Given the description of an element on the screen output the (x, y) to click on. 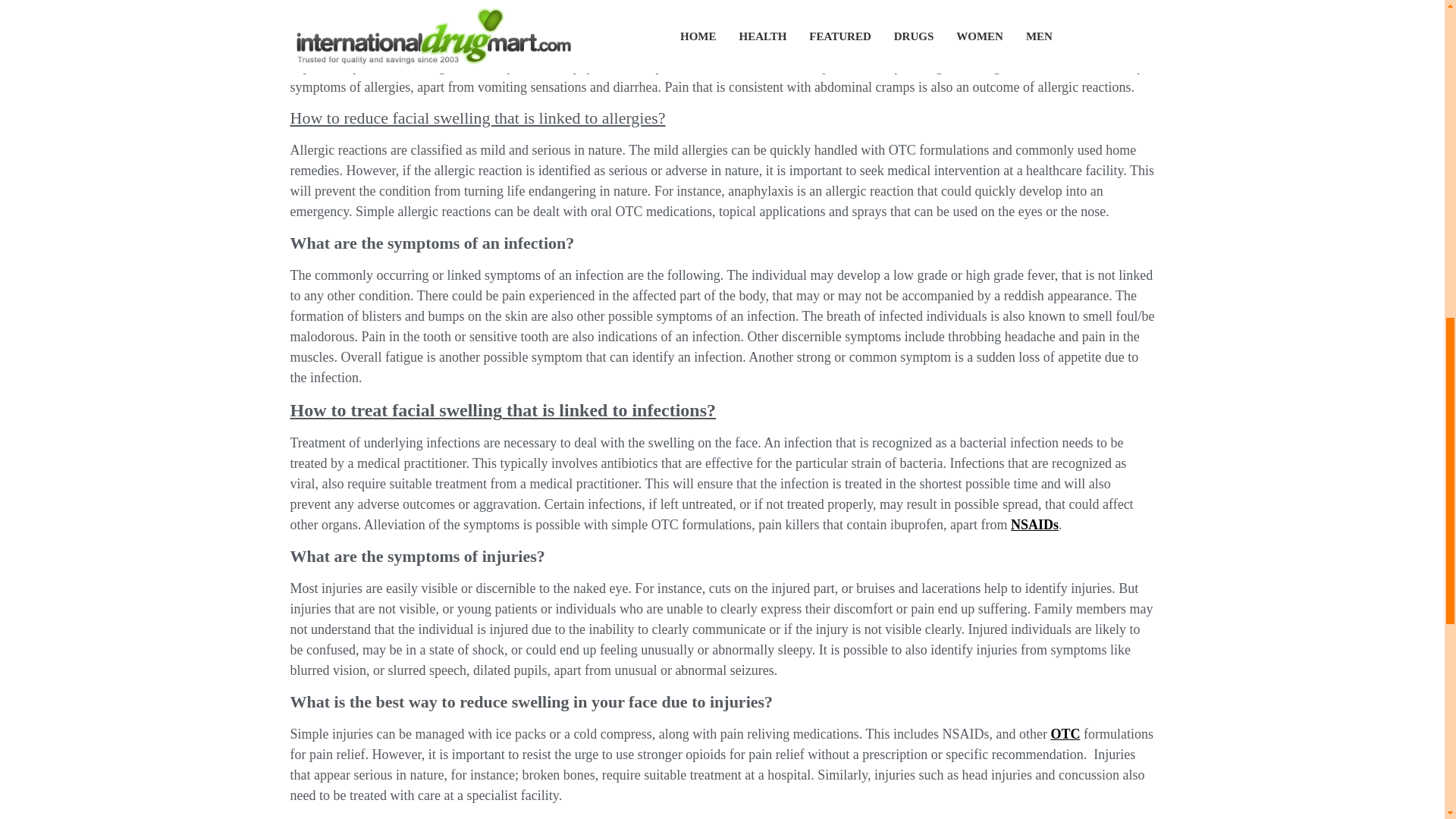
OTC (1064, 734)
NSAIDs (1034, 524)
Difficulty in breathing (714, 25)
stuffy nose (734, 6)
